Given the description of an element on the screen output the (x, y) to click on. 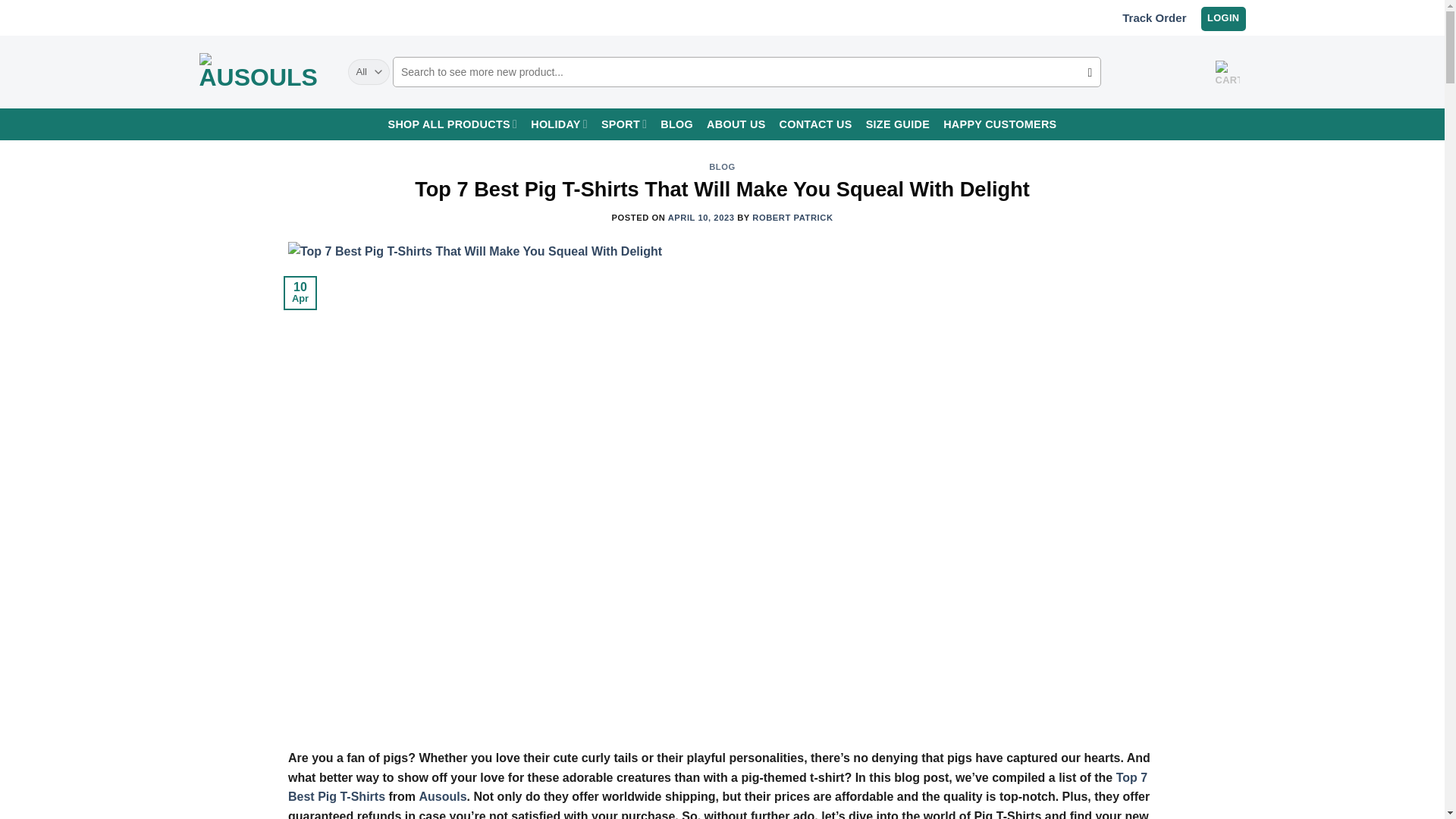
ABOUT US (735, 124)
SIZE GUIDE (898, 124)
Cart (1226, 72)
Track Order (1154, 16)
Search (1089, 73)
HOLIDAY (559, 124)
SHOP ALL PRODUCTS (453, 124)
LOGIN (1222, 17)
SPORT (623, 124)
Login (1222, 17)
CONTACT US (814, 124)
Ausouls - Unique Design On T-Shirt Hoodie Sweatshirt (261, 72)
BLOG (677, 124)
